Given the description of an element on the screen output the (x, y) to click on. 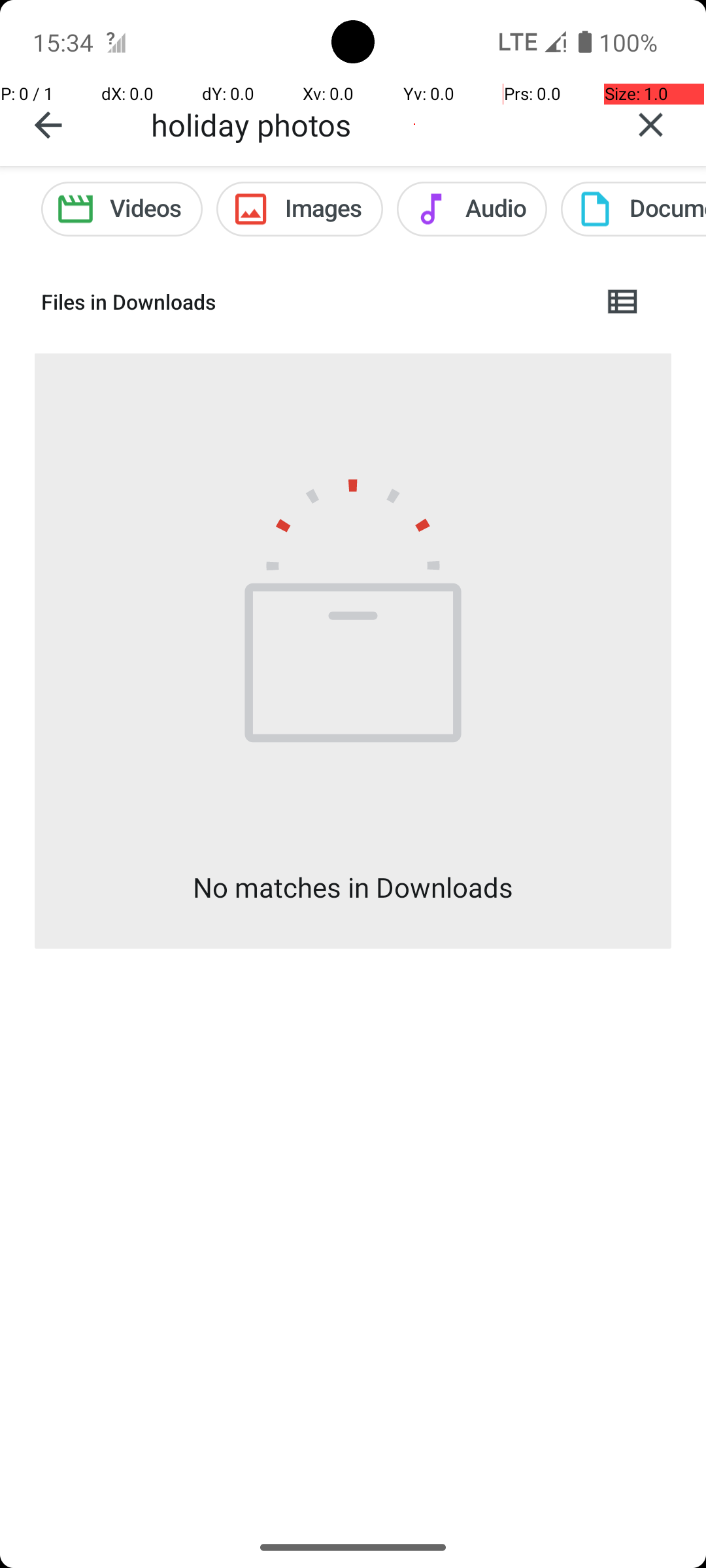
holiday photos Element type: android.widget.AutoCompleteTextView (373, 124)
